Given the description of an element on the screen output the (x, y) to click on. 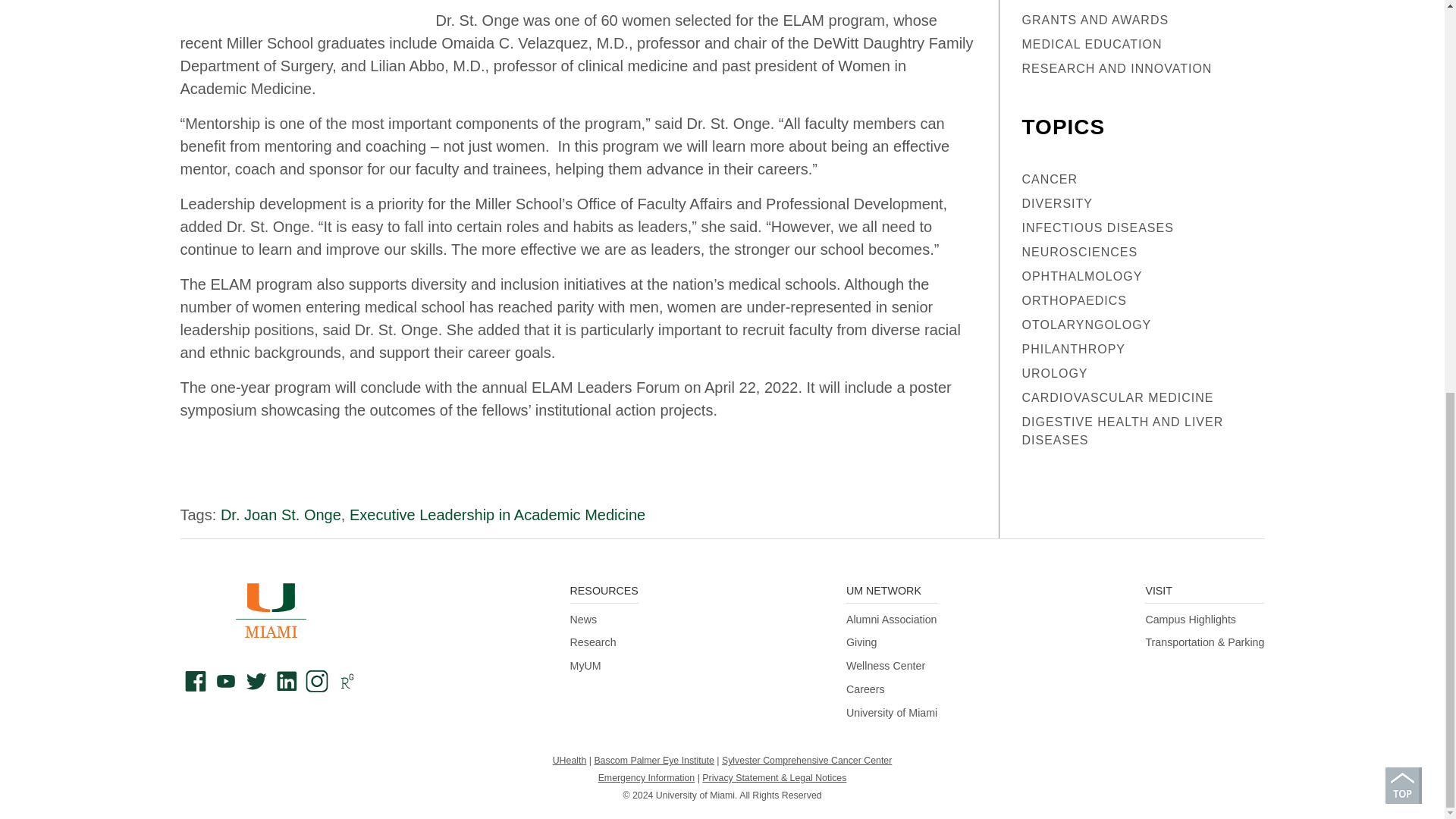
Logo for University Of Miami (271, 610)
